Given the description of an element on the screen output the (x, y) to click on. 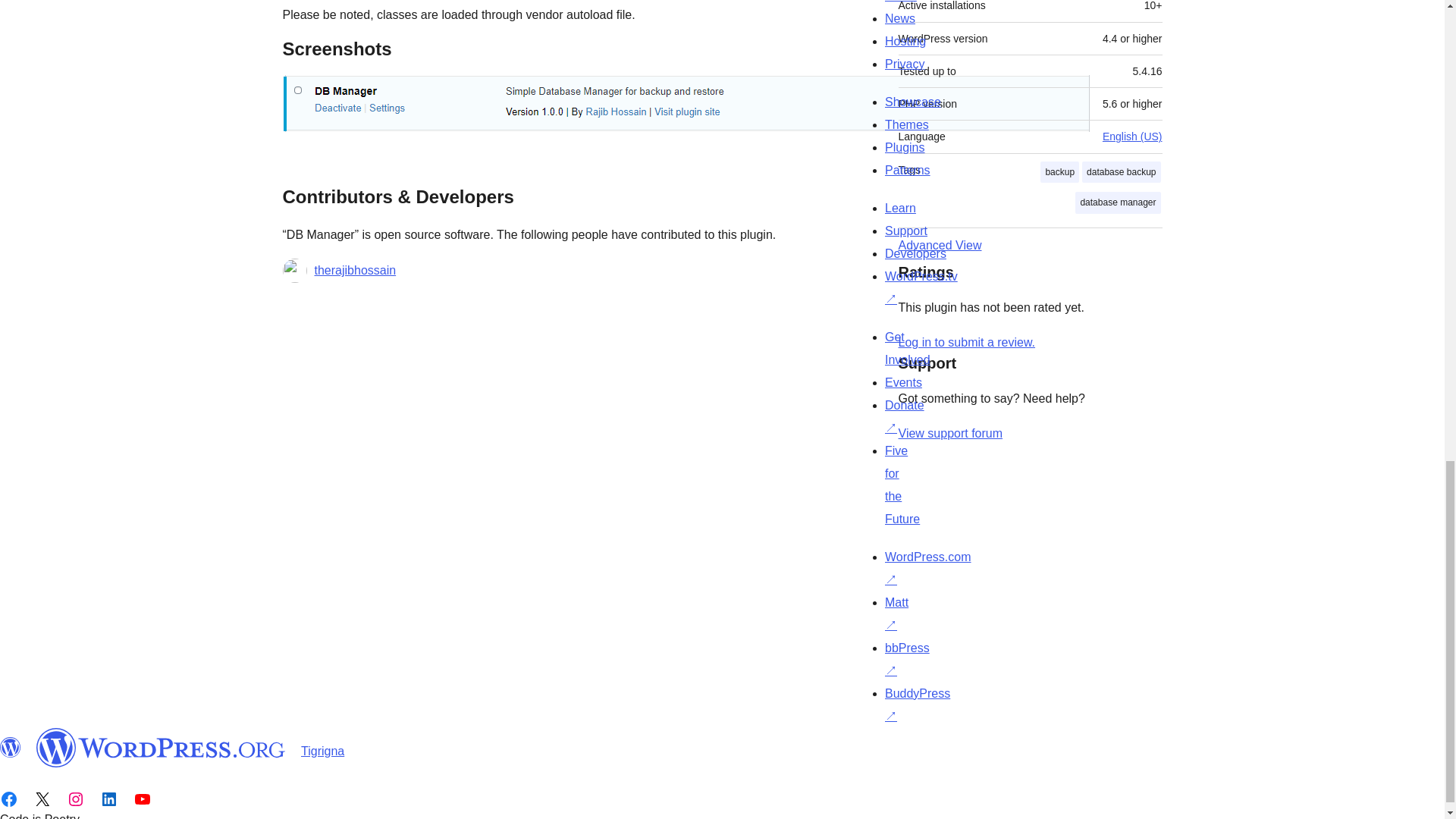
Log in to WordPress.org (966, 341)
WordPress.org (10, 747)
WordPress.org (160, 747)
therajibhossain (355, 270)
